Given the description of an element on the screen output the (x, y) to click on. 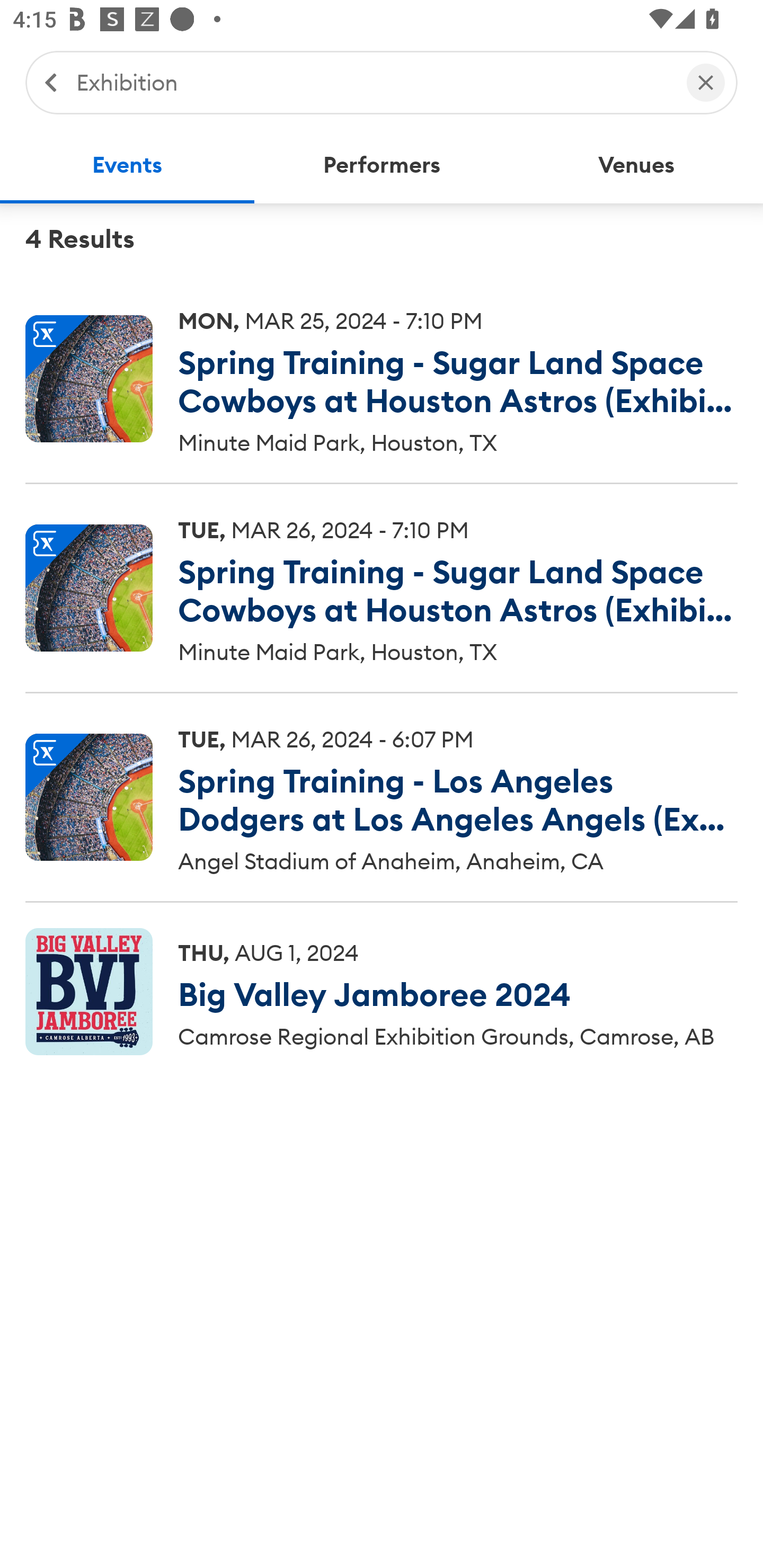
Exhibition (371, 81)
Clear Search (705, 81)
Performers (381, 165)
Venues (635, 165)
